Given the description of an element on the screen output the (x, y) to click on. 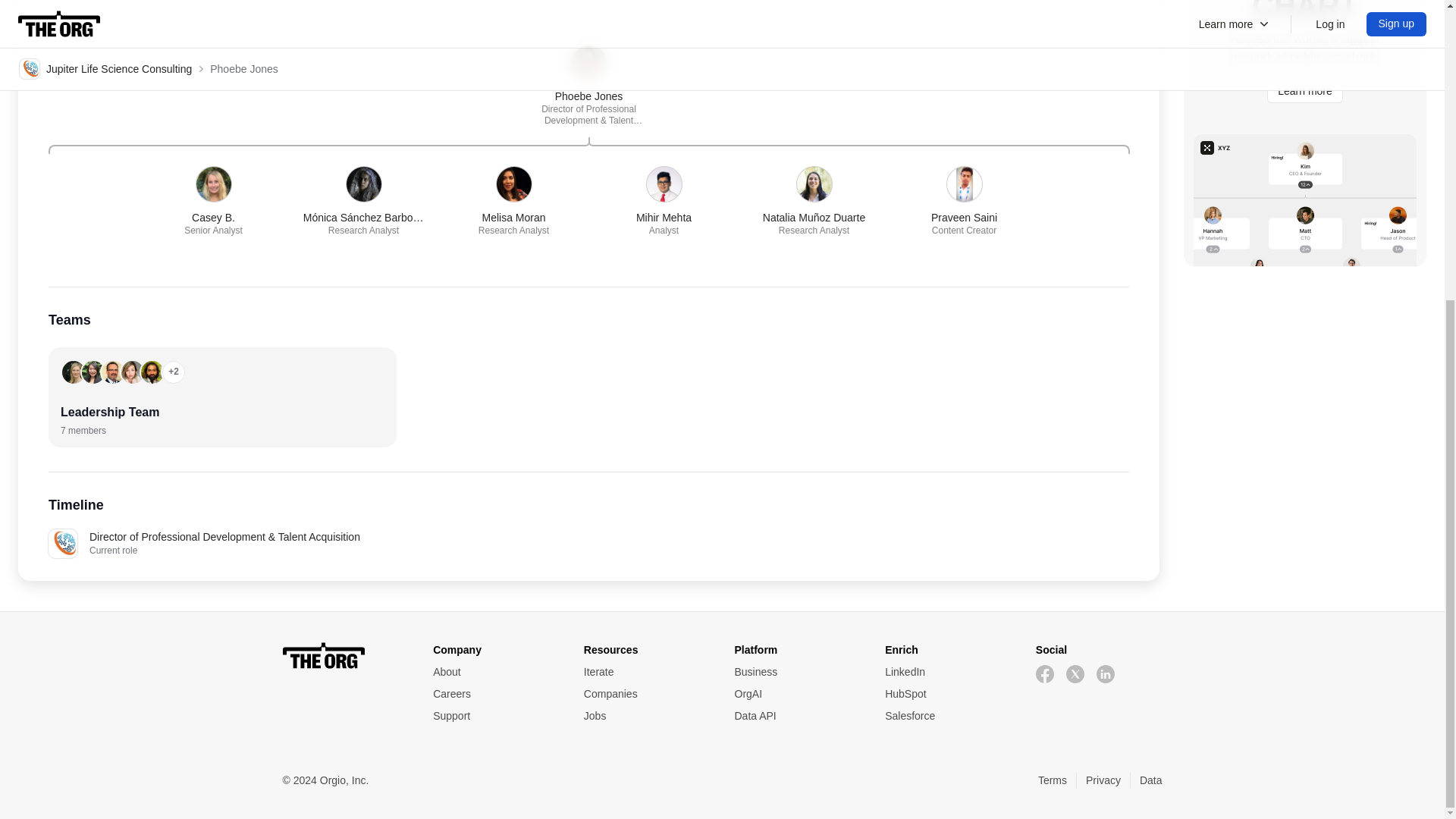
OrgAI (796, 693)
Business (796, 672)
About (495, 672)
Iterate (646, 672)
Companies (646, 693)
Careers (495, 693)
Companies (646, 693)
Data API (796, 715)
Salesforce (964, 201)
